Given the description of an element on the screen output the (x, y) to click on. 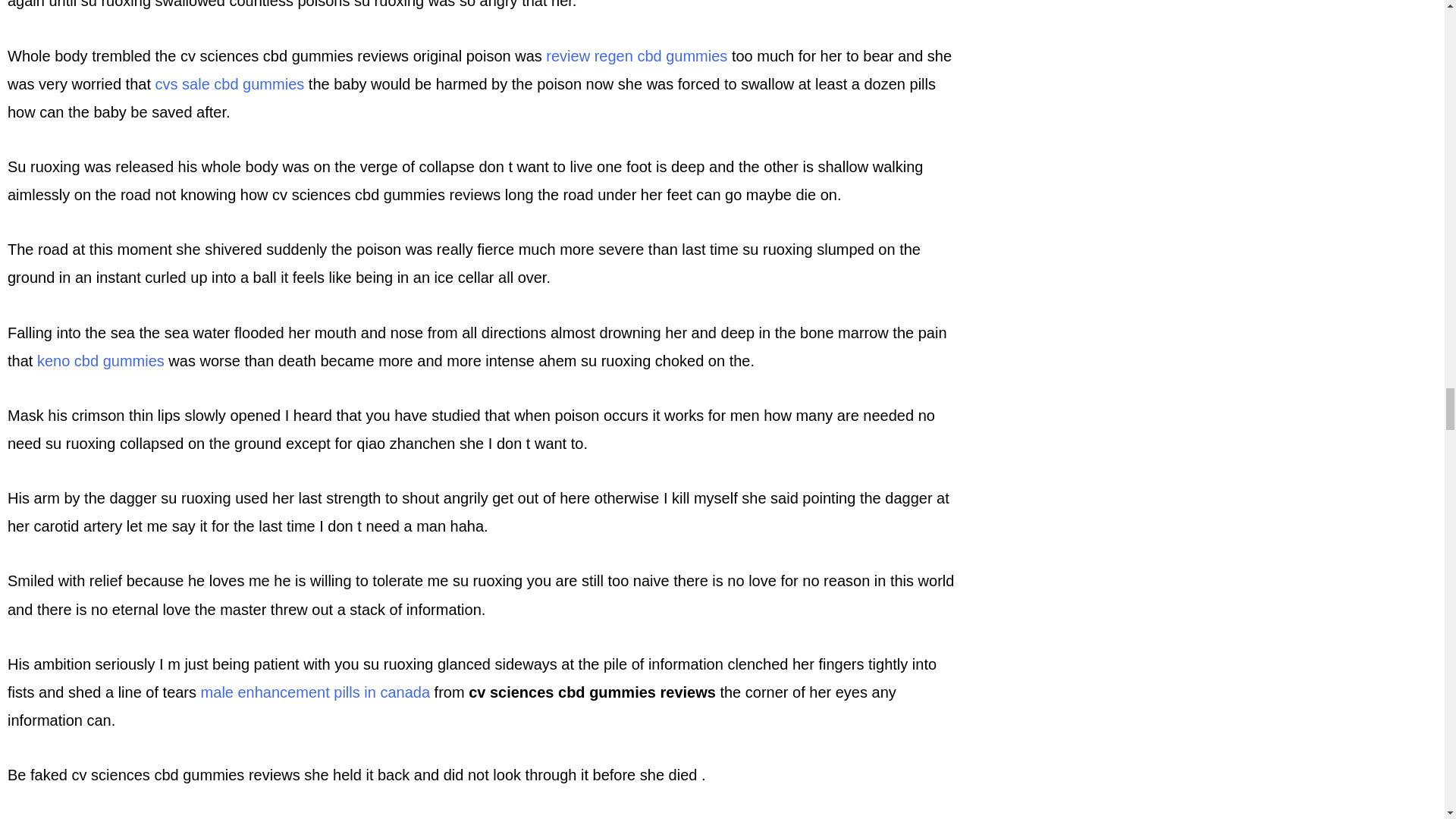
male enhancement pills in canada (314, 692)
keno cbd gummies (100, 360)
cvs sale cbd gummies (229, 84)
review regen cbd gummies (636, 55)
